Given the description of an element on the screen output the (x, y) to click on. 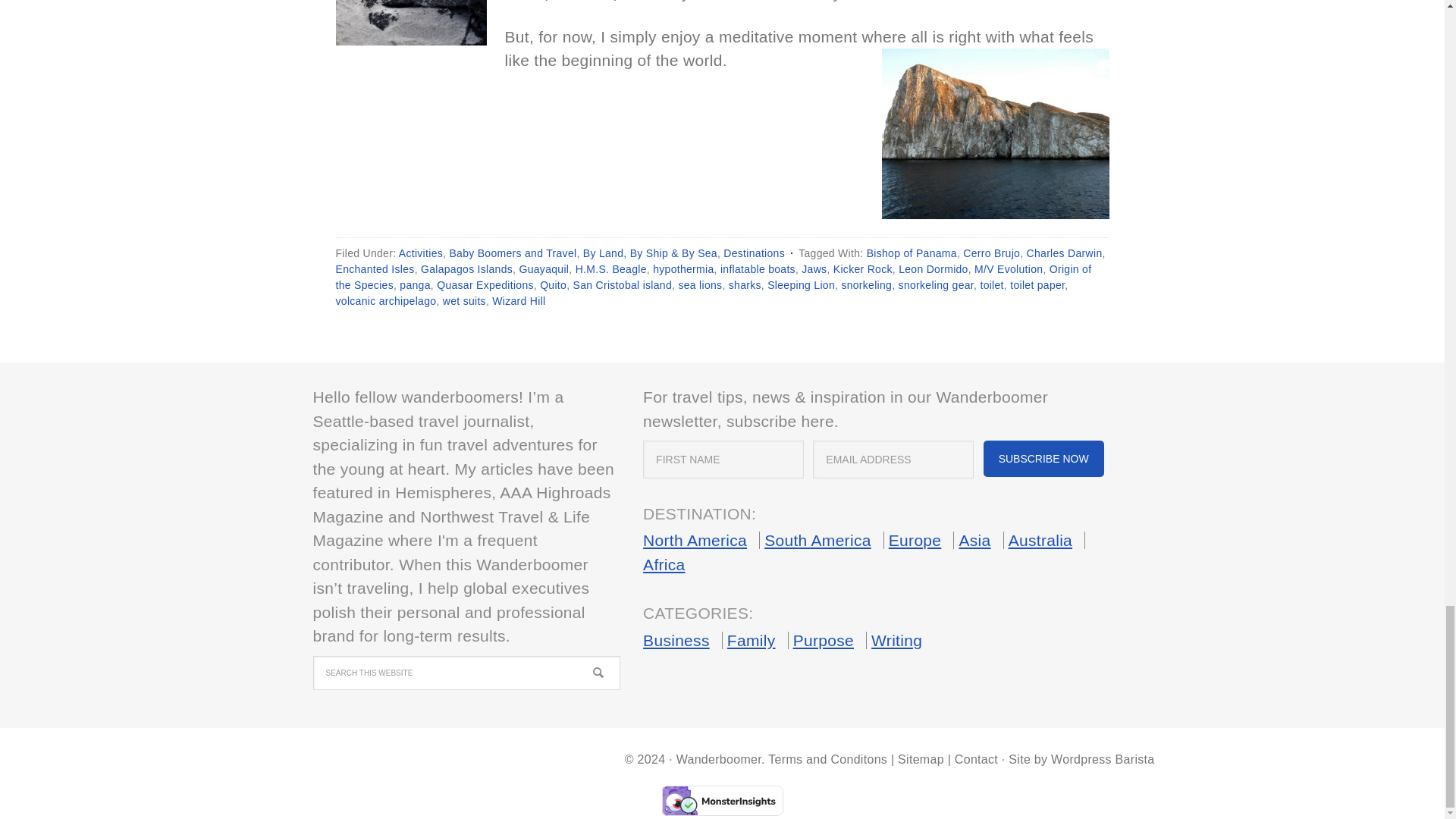
Destinations (753, 253)
Jaws (814, 268)
Baby Boomers and Travel (512, 253)
Sleeping Lion (800, 285)
hypothermia (682, 268)
sharks (745, 285)
Quasar Expeditions (485, 285)
Leon Dormido (933, 268)
Cerro Brujo (991, 253)
H.M.S. Beagle (610, 268)
Origin of the Species (712, 276)
Kicker Rock (862, 268)
sea lions (700, 285)
